Given the description of an element on the screen output the (x, y) to click on. 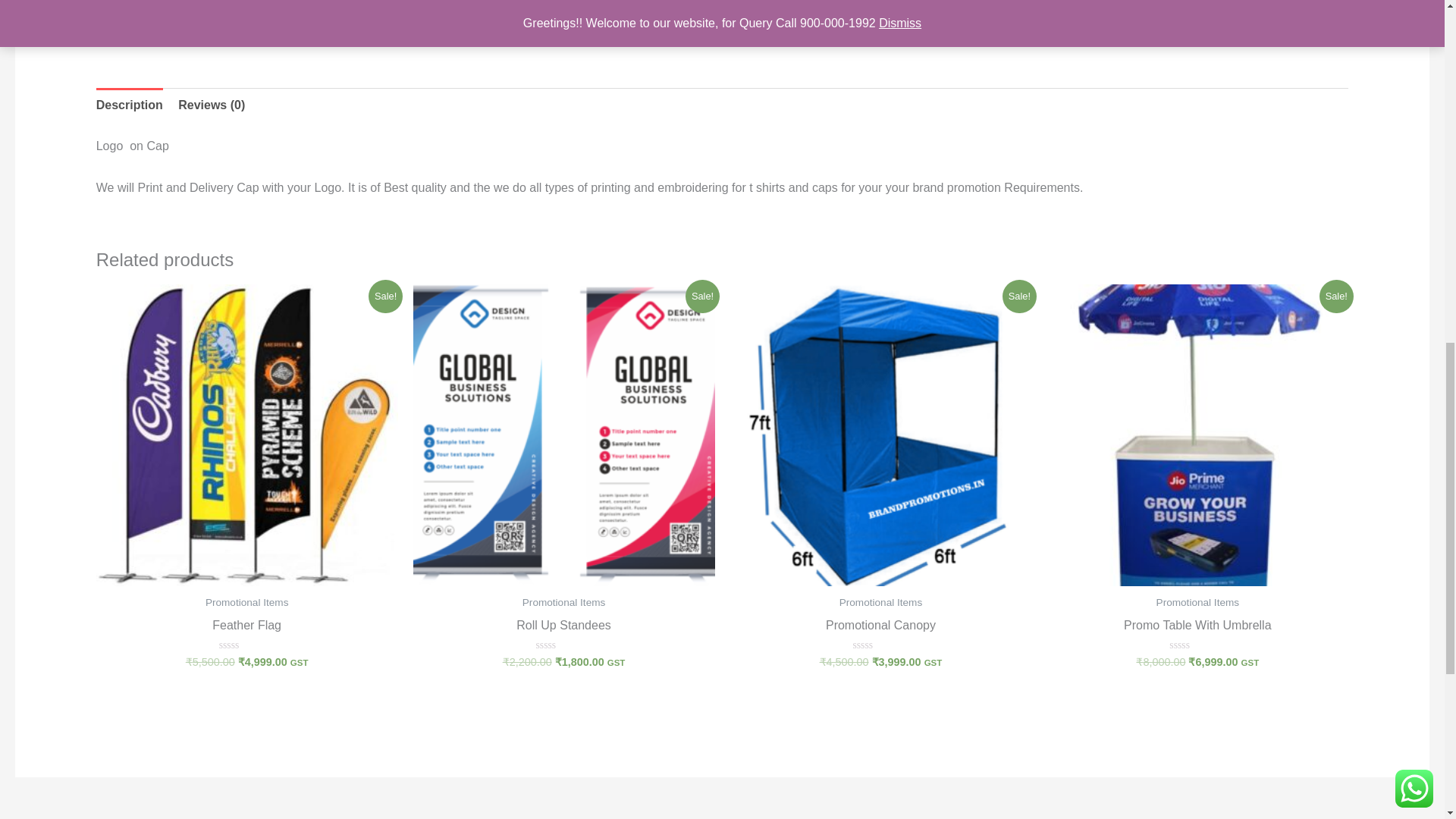
Feather Flag (246, 628)
Description (129, 104)
Roll Up Standees (563, 628)
logo on cap (409, 19)
